Given the description of an element on the screen output the (x, y) to click on. 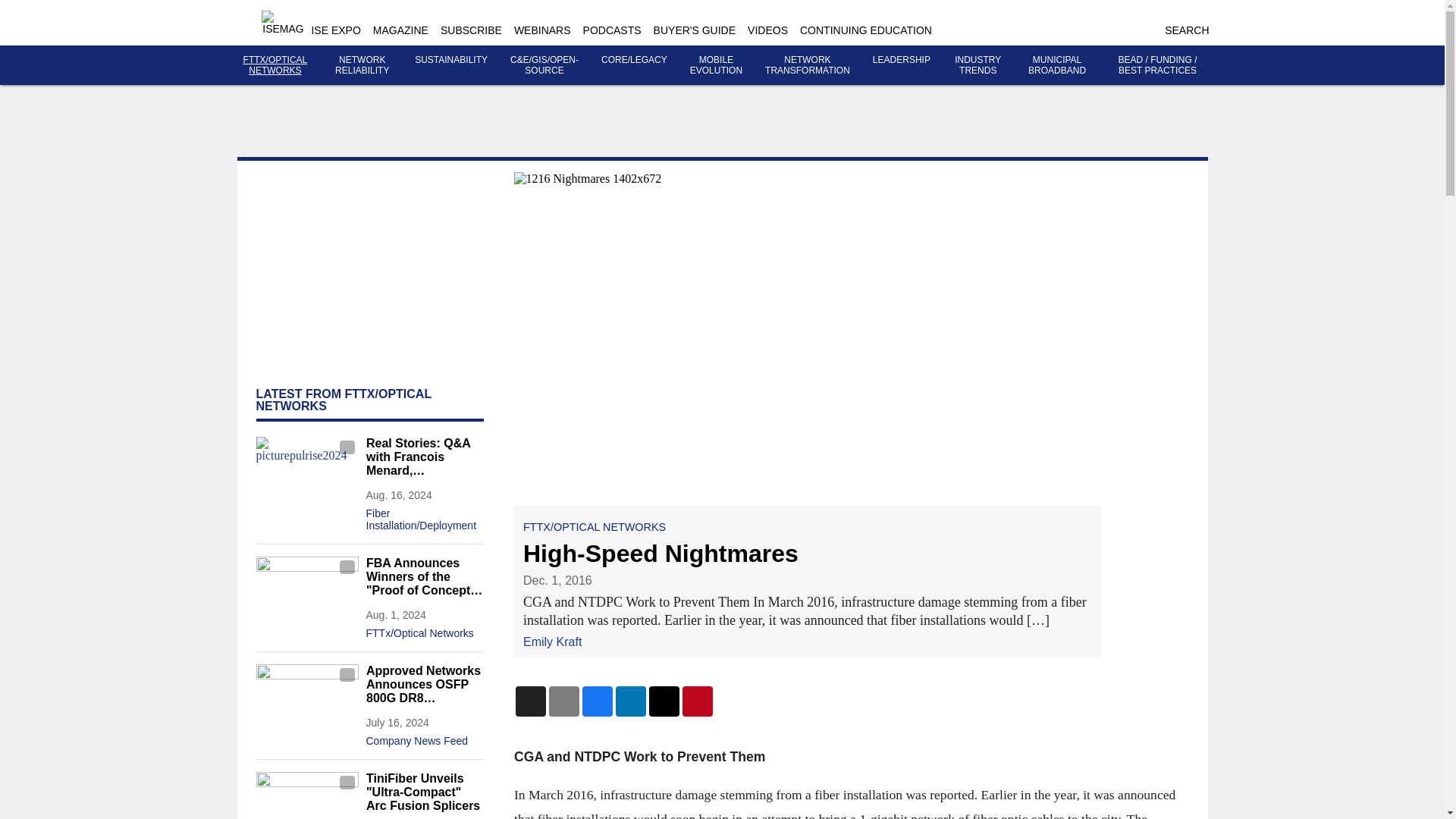
NETWORK TRANSFORMATION (807, 65)
LEADERSHIP (901, 59)
NETWORK RELIABILITY (361, 65)
VIDEOS (767, 30)
ISE EXPO (335, 30)
MOBILE EVOLUTION (716, 65)
SEARCH (1186, 30)
Company News Feed (424, 737)
MUNICIPAL BROADBAND (1056, 65)
PODCASTS (612, 30)
